Given the description of an element on the screen output the (x, y) to click on. 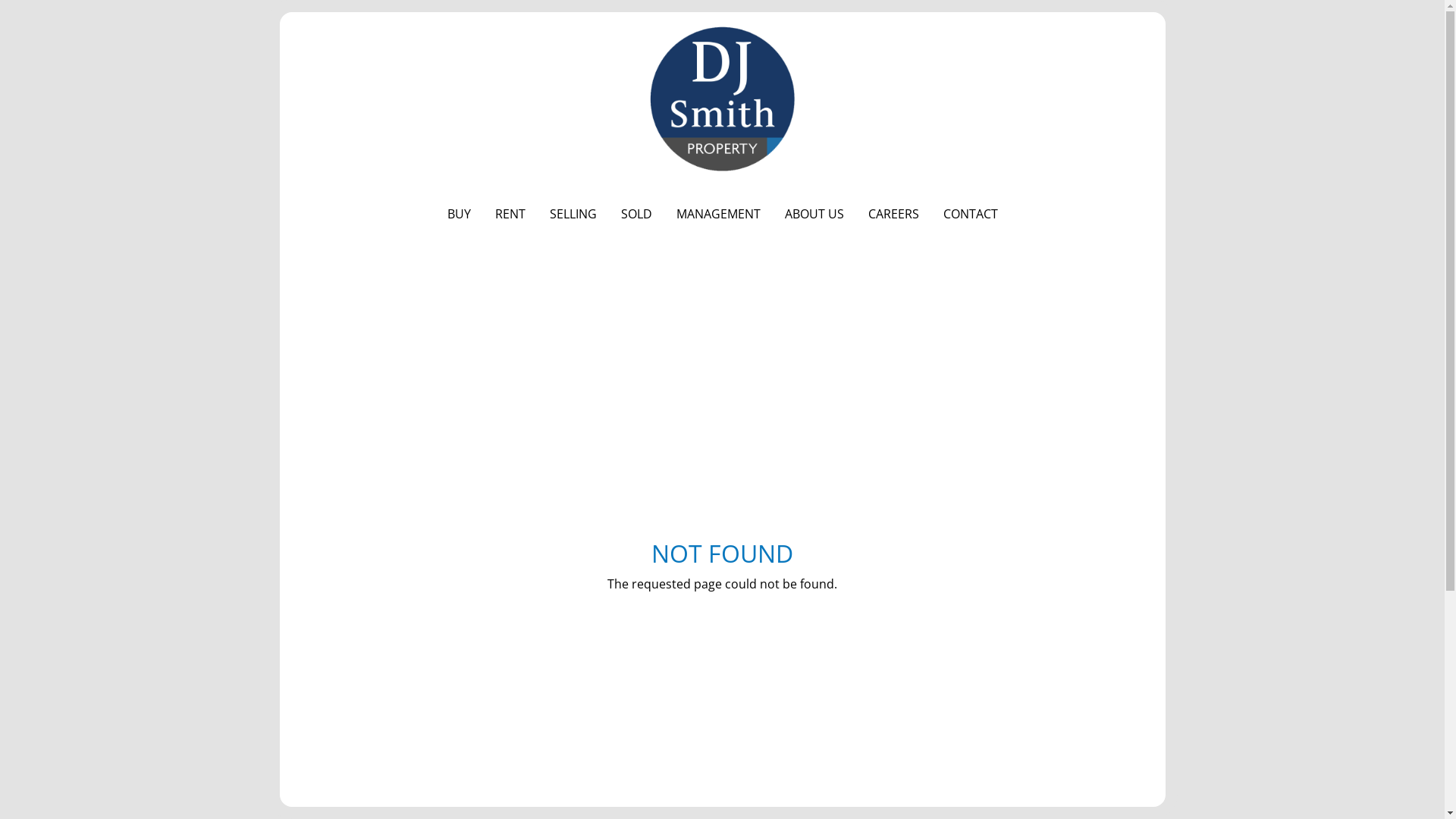
SOLD Element type: text (635, 213)
CONTACT Element type: text (970, 213)
CAREERS Element type: text (892, 213)
ABOUT US Element type: text (813, 213)
MANAGEMENT Element type: text (718, 213)
SELLING Element type: text (572, 213)
BUY Element type: text (459, 213)
RENT Element type: text (509, 213)
